Given the description of an element on the screen output the (x, y) to click on. 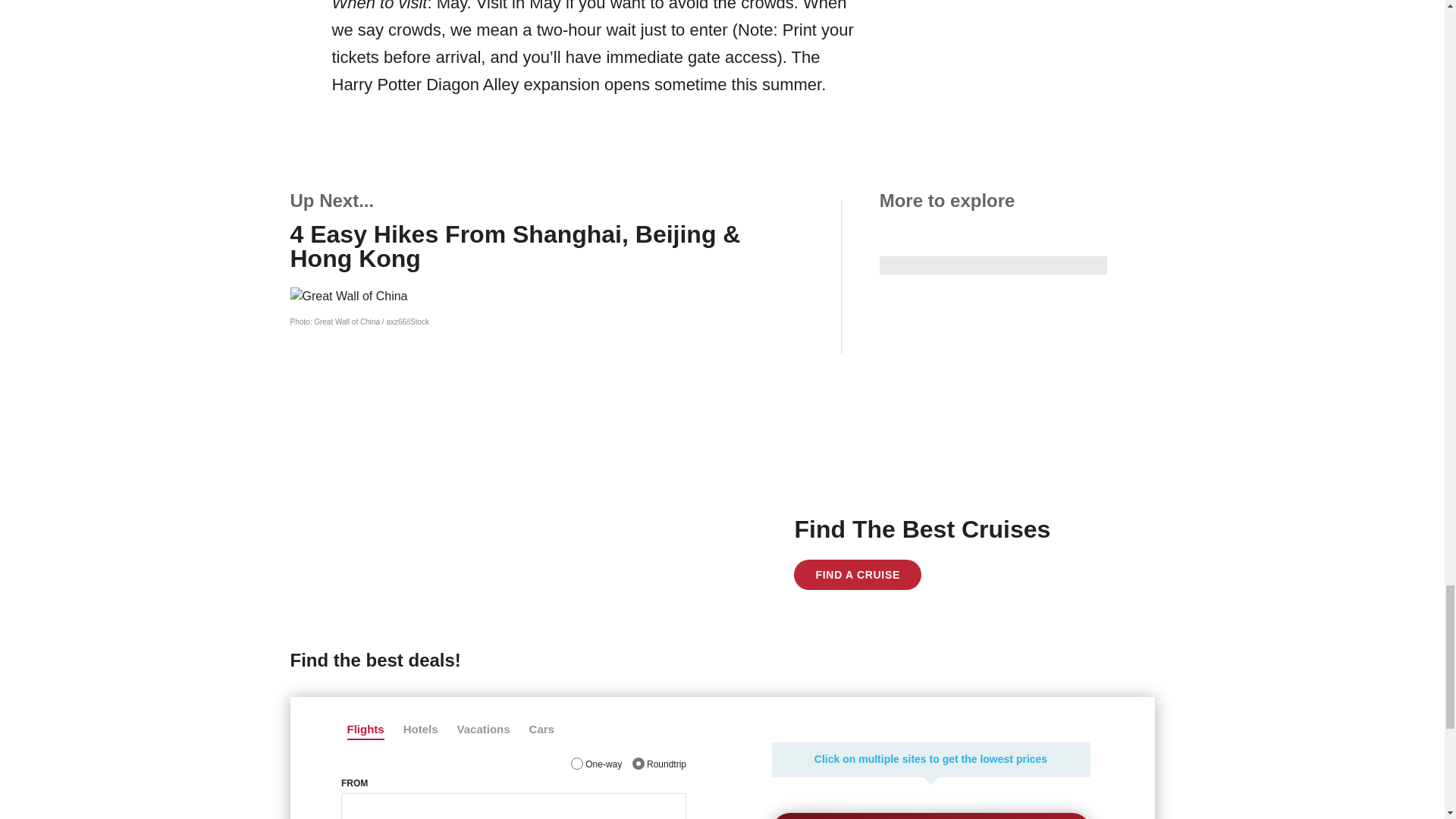
Hotels (420, 728)
Compare Selected (930, 816)
2 (638, 763)
FIND A CRUISE (857, 574)
Flights (365, 729)
Cars (541, 728)
Vacations (484, 728)
1 (576, 763)
